Given the description of an element on the screen output the (x, y) to click on. 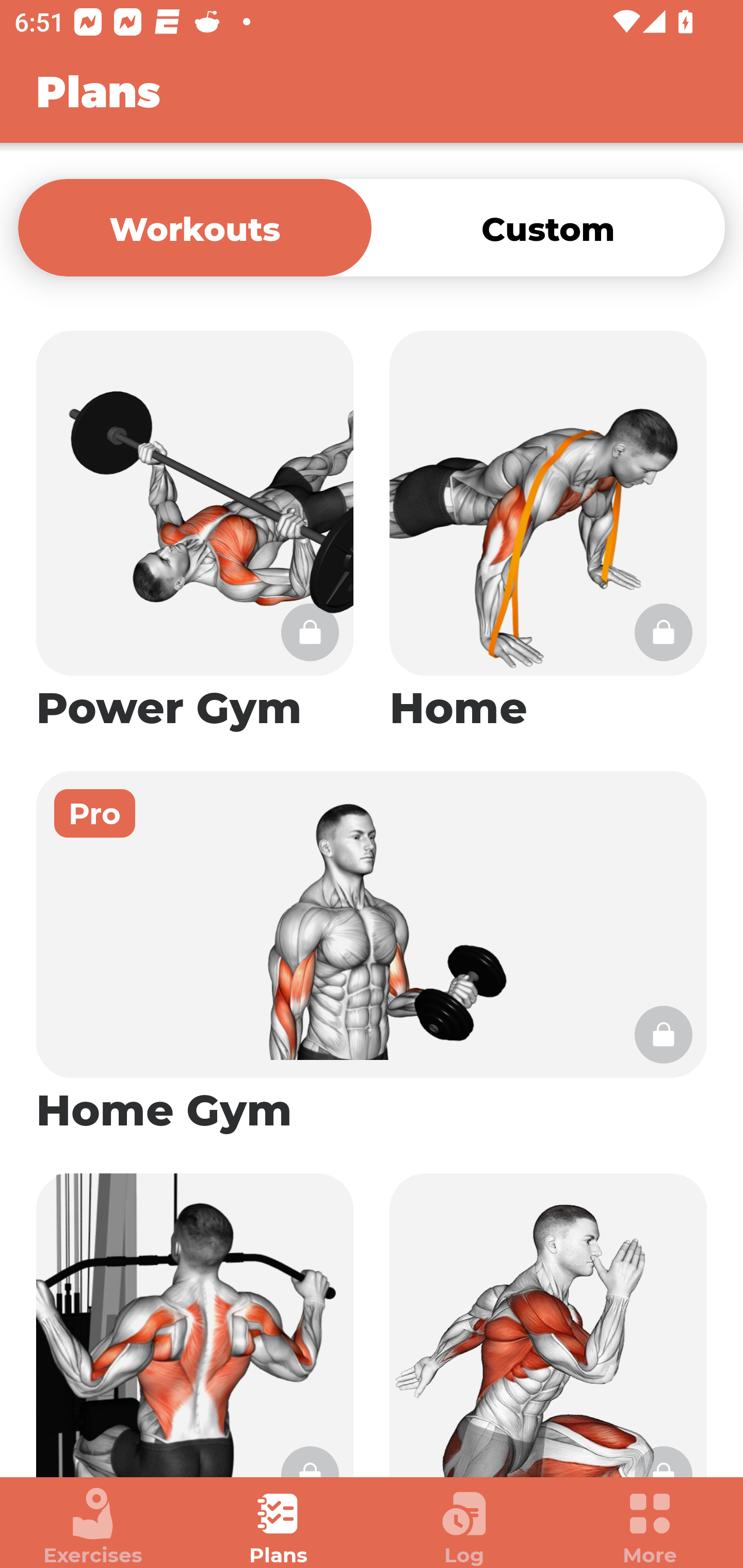
Workouts (194, 226)
Custom (548, 226)
Power Gym (194, 532)
Home (548, 532)
Pro Home Gym (371, 953)
Exercises (92, 1527)
Plans (278, 1527)
Log (464, 1527)
More (650, 1527)
